Given the description of an element on the screen output the (x, y) to click on. 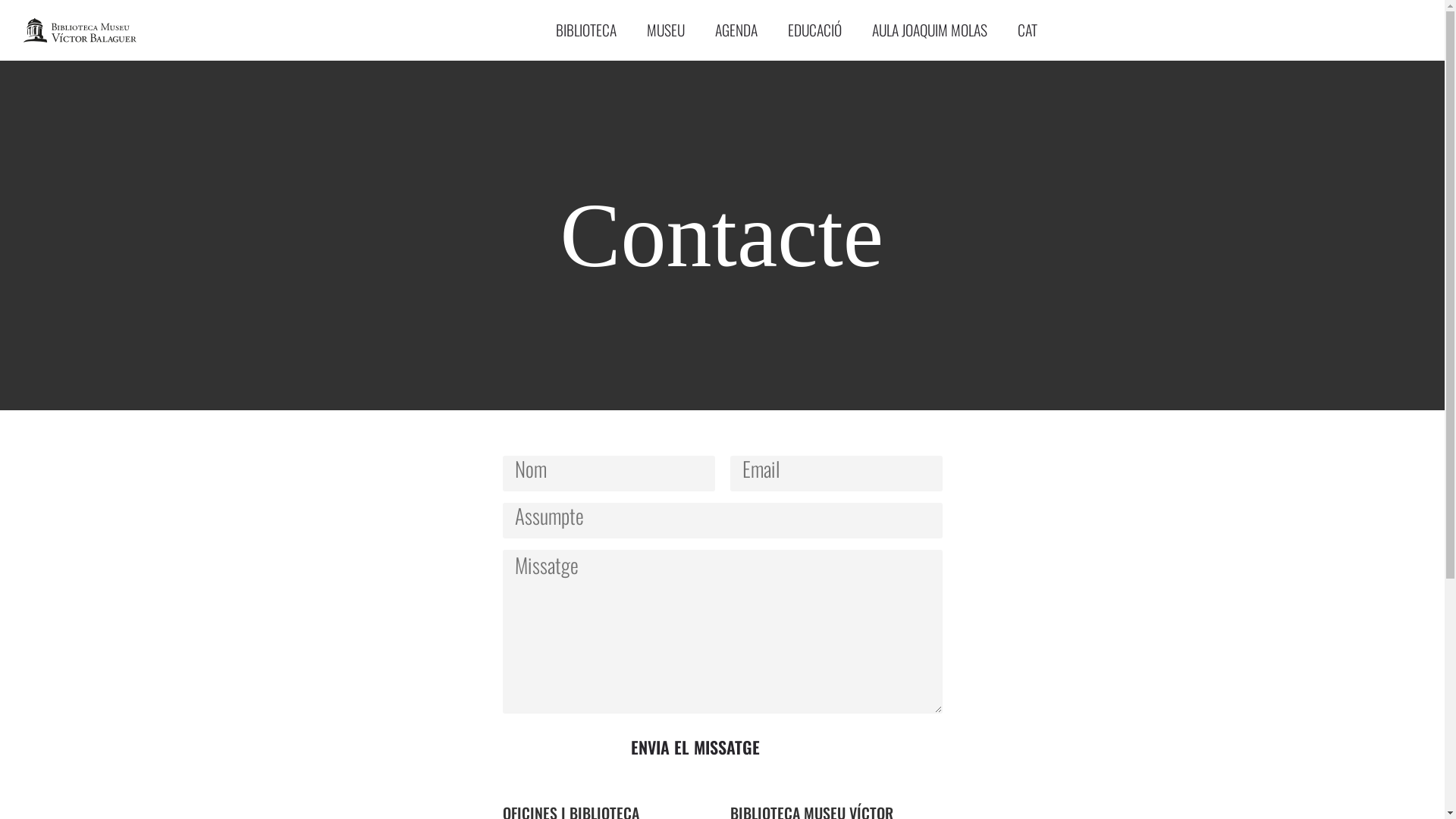
AGENDA Element type: text (735, 30)
BIBLIOTECA Element type: text (585, 30)
ENVIA EL MISSATGE Element type: text (695, 747)
AULA JOAQUIM MOLAS Element type: text (929, 30)
CAT Element type: text (1027, 30)
MUSEU Element type: text (665, 30)
